Given the description of an element on the screen output the (x, y) to click on. 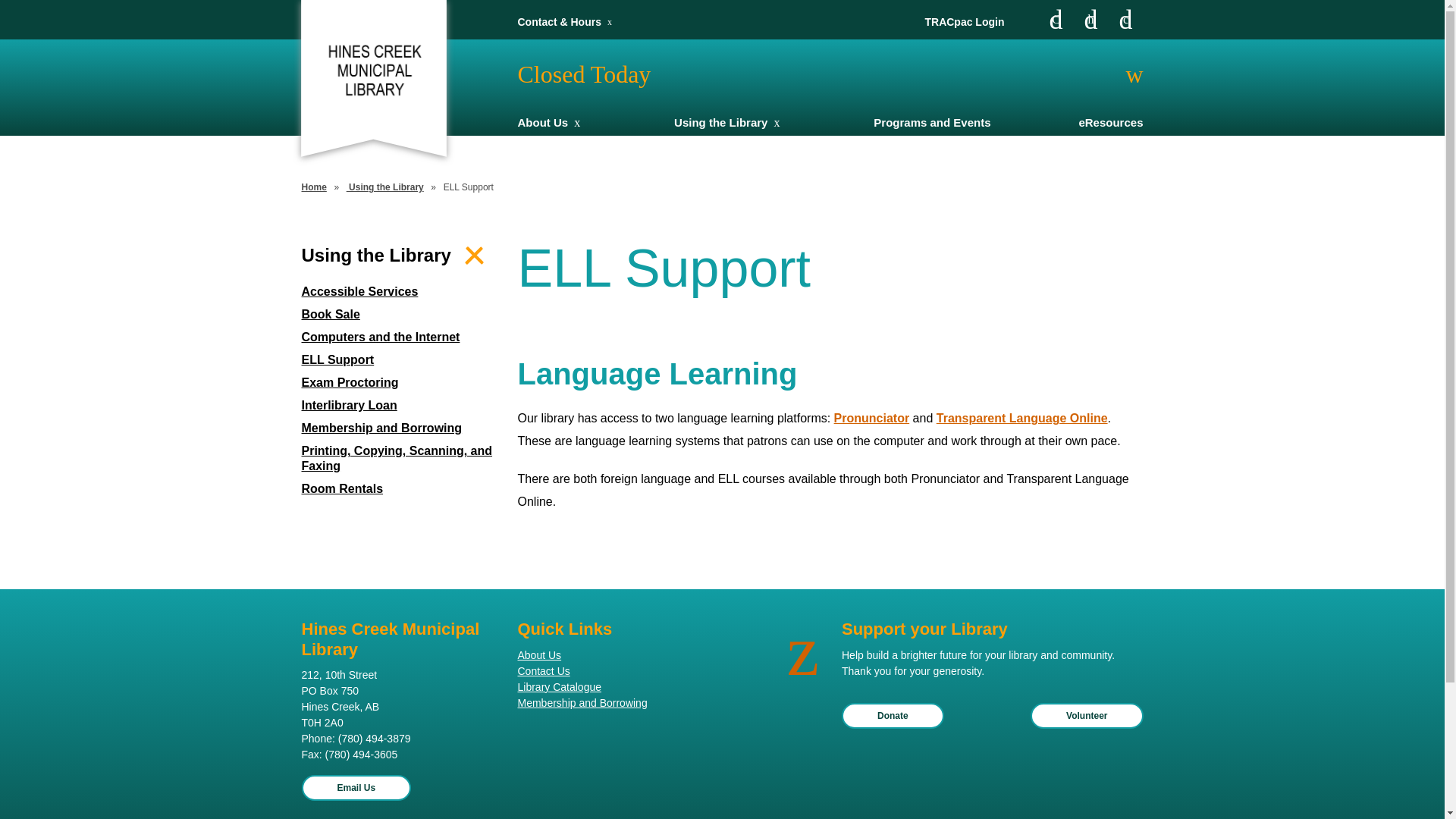
Facebook Element type: hover (1055, 19)
Computers and the Internet Element type: text (398, 337)
Library Catalogue Element type: text (613, 687)
ELL Support Element type: text (398, 359)
Home Element type: text (313, 187)
TRACpac Login Element type: text (964, 21)
About Us Element type: text (613, 655)
Contact & Hours Element type: text (558, 21)
Book Sale Element type: text (398, 314)
Email Us Element type: text (356, 787)
Donate Element type: text (892, 715)
Using the Library Element type: text (720, 122)
Using the Library
Toggle navigation Element type: text (398, 255)
Contact Us Element type: text (613, 671)
Room Rentals Element type: text (398, 488)
Using the Library Element type: text (384, 187)
Printing, Copying, Scanning, and Faxing Element type: text (398, 458)
Volunteer Element type: text (1086, 715)
Interlibrary Loan Element type: text (398, 405)
Accessible Services Element type: text (398, 291)
Exam Proctoring Element type: text (398, 382)
Transparent Language Online Element type: text (1021, 417)
About Us Element type: text (542, 122)
Programs and Events Element type: text (931, 122)
Pronunciator Element type: text (872, 417)
eResources Element type: text (1110, 122)
Pinterest Element type: hover (1125, 19)
Membership and Borrowing Element type: text (398, 428)
Hines Creek Municipal Library Element type: hover (372, 70)
Instagram Element type: hover (1090, 19)
Membership and Borrowing Element type: text (613, 703)
